Given the description of an element on the screen output the (x, y) to click on. 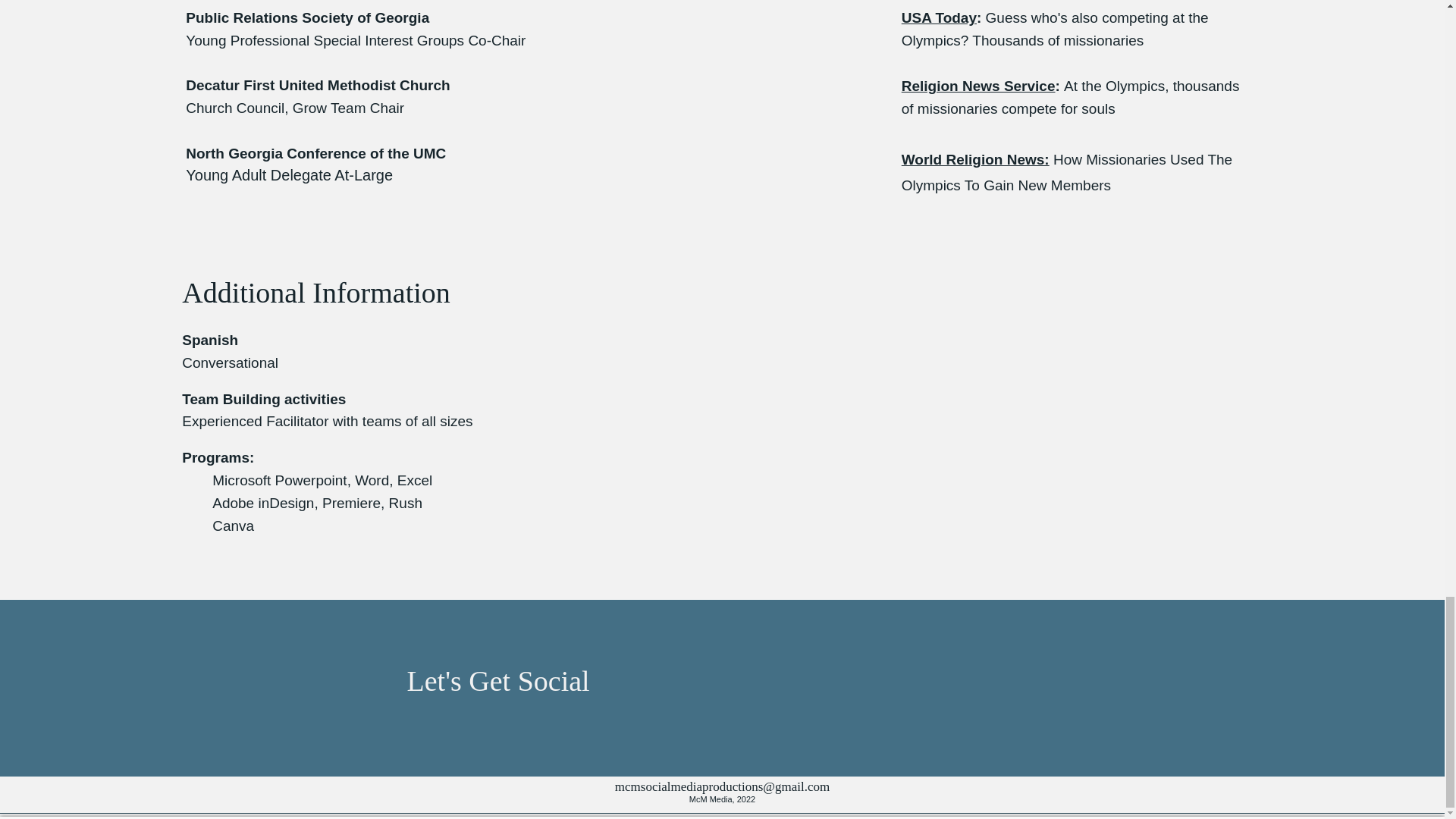
Religion News Service (978, 85)
USA Today (938, 17)
World Religion News: (975, 159)
